Given the description of an element on the screen output the (x, y) to click on. 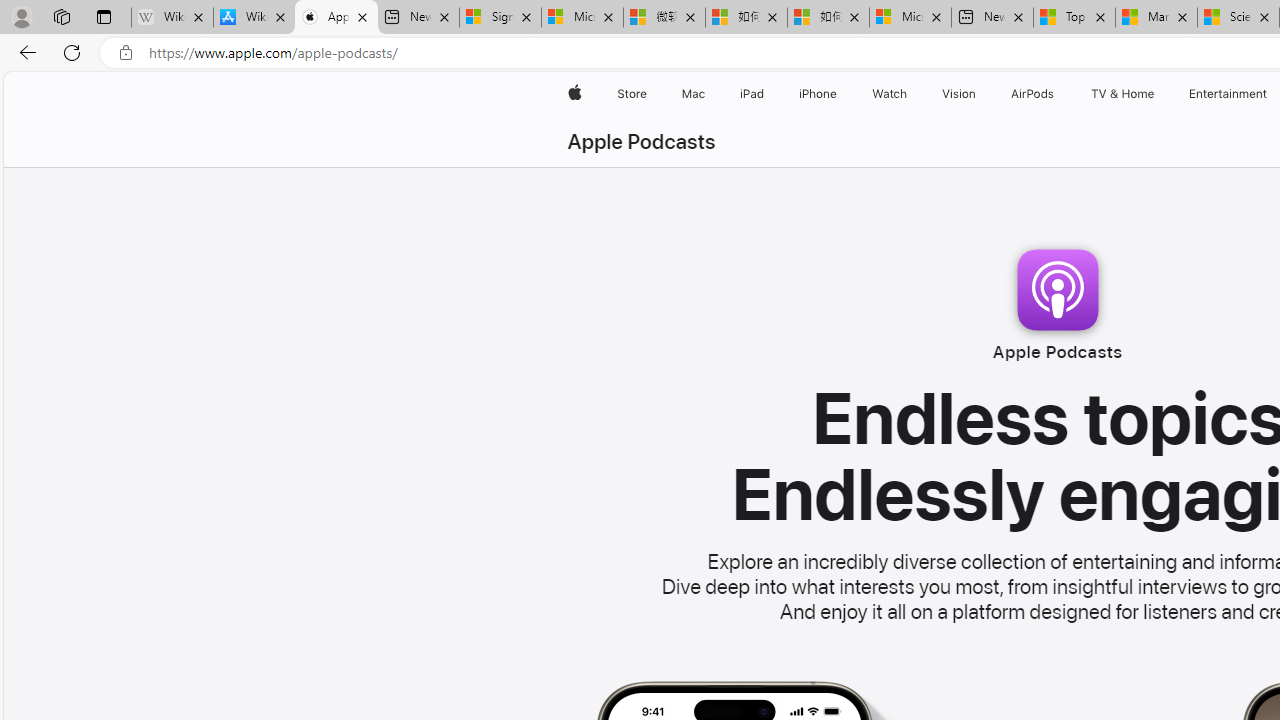
AirPods (1032, 93)
Vision (959, 93)
Apple (574, 93)
Wikipedia - Sleeping (171, 17)
Store (631, 93)
TV & Home (1122, 93)
Marine life - MSN (1156, 17)
Mac (692, 93)
Entertainment (1227, 93)
Store (631, 93)
Class: globalnav-submenu-trigger-item (1157, 93)
